Given the description of an element on the screen output the (x, y) to click on. 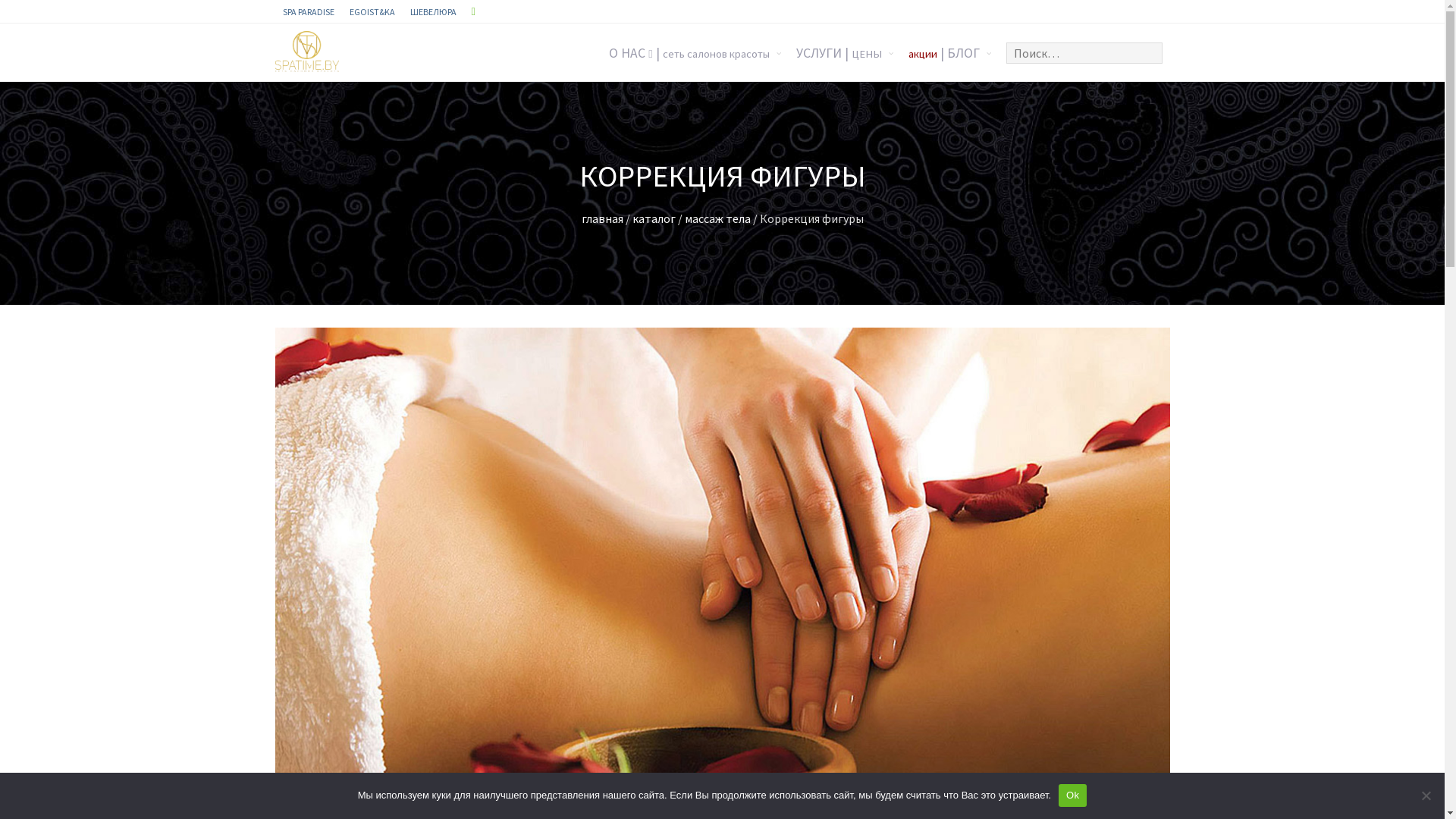
SPA PARADISE Element type: text (307, 11)
EGOIST&KA Element type: text (371, 11)
Ok Element type: text (1072, 795)
